Given the description of an element on the screen output the (x, y) to click on. 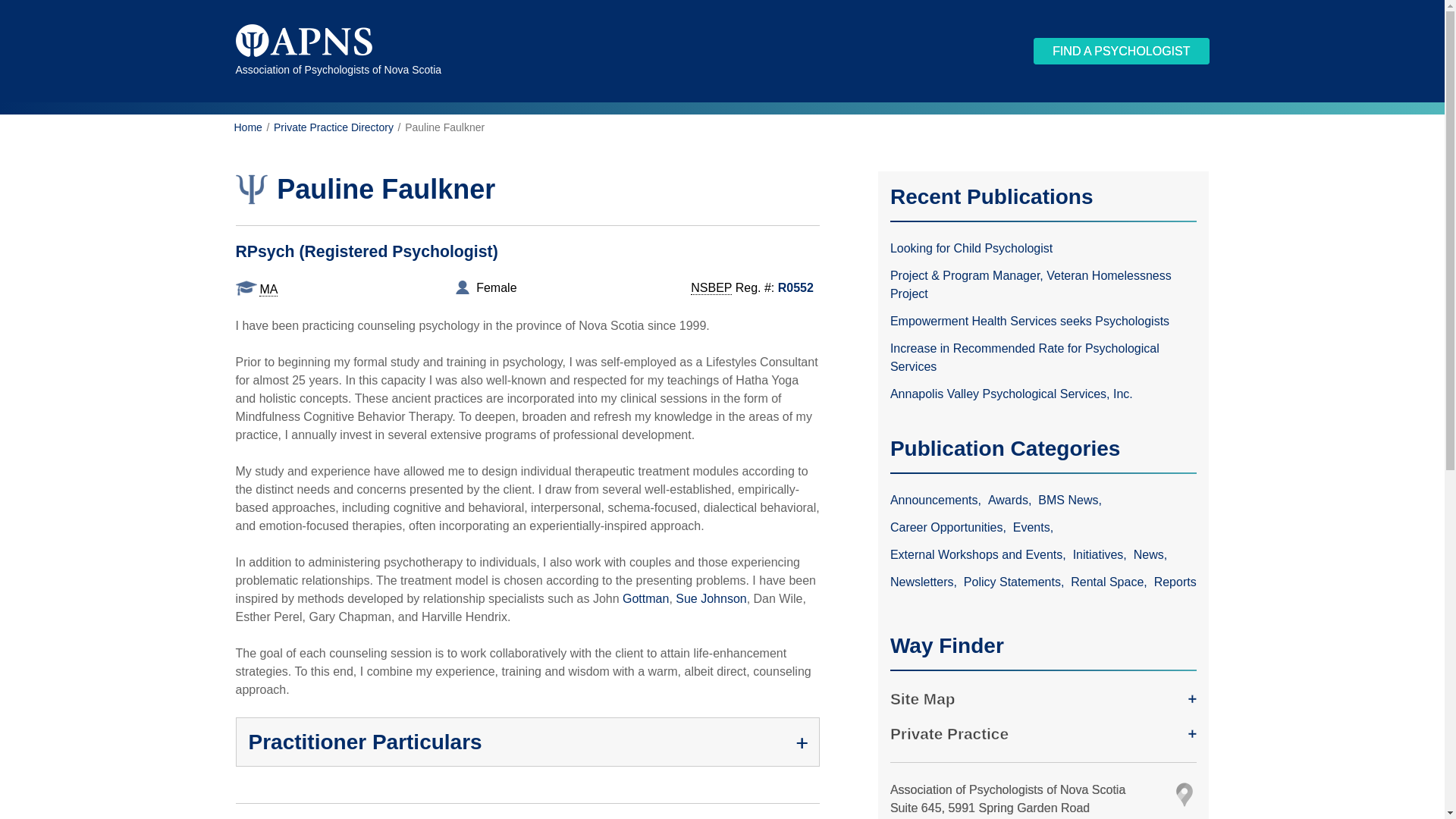
APNS - Home (302, 42)
Announcements (937, 499)
Reports (1175, 581)
Newsletters (924, 581)
Nova Scotia Board of Examiners in Psychology (711, 287)
BMS News (1071, 499)
Sue Johnson (710, 598)
Go to APNS Home (247, 127)
FIND A PSYCHOLOGIST (1120, 50)
External Workshops and Events (978, 554)
Awards (1011, 499)
Annapolis Valley Psychological Services, Inc. (1042, 393)
Private Practice Directory (333, 127)
Home (247, 127)
Rental Space (1110, 581)
